Given the description of an element on the screen output the (x, y) to click on. 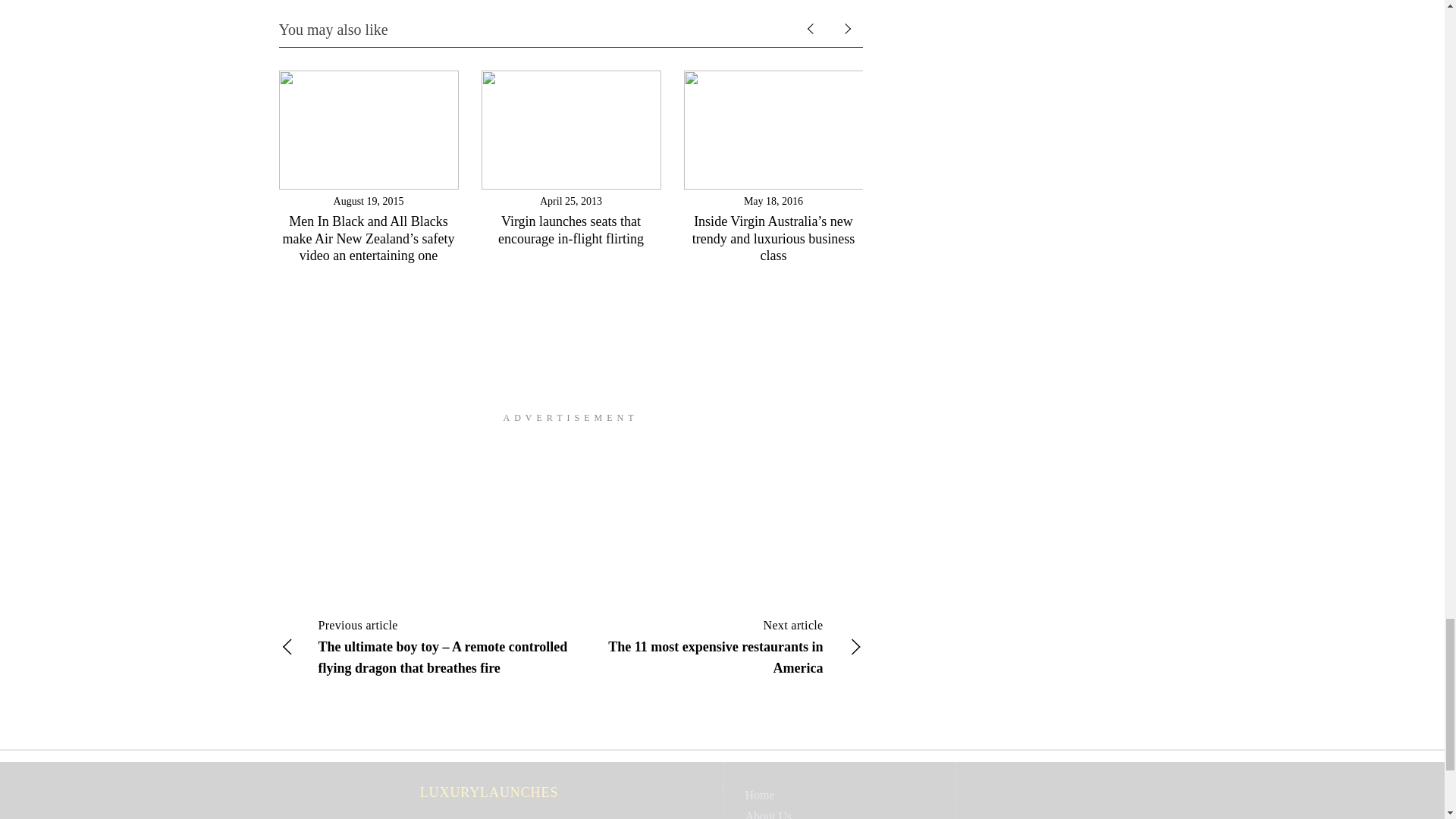
About Us (768, 814)
Home (759, 794)
